Given the description of an element on the screen output the (x, y) to click on. 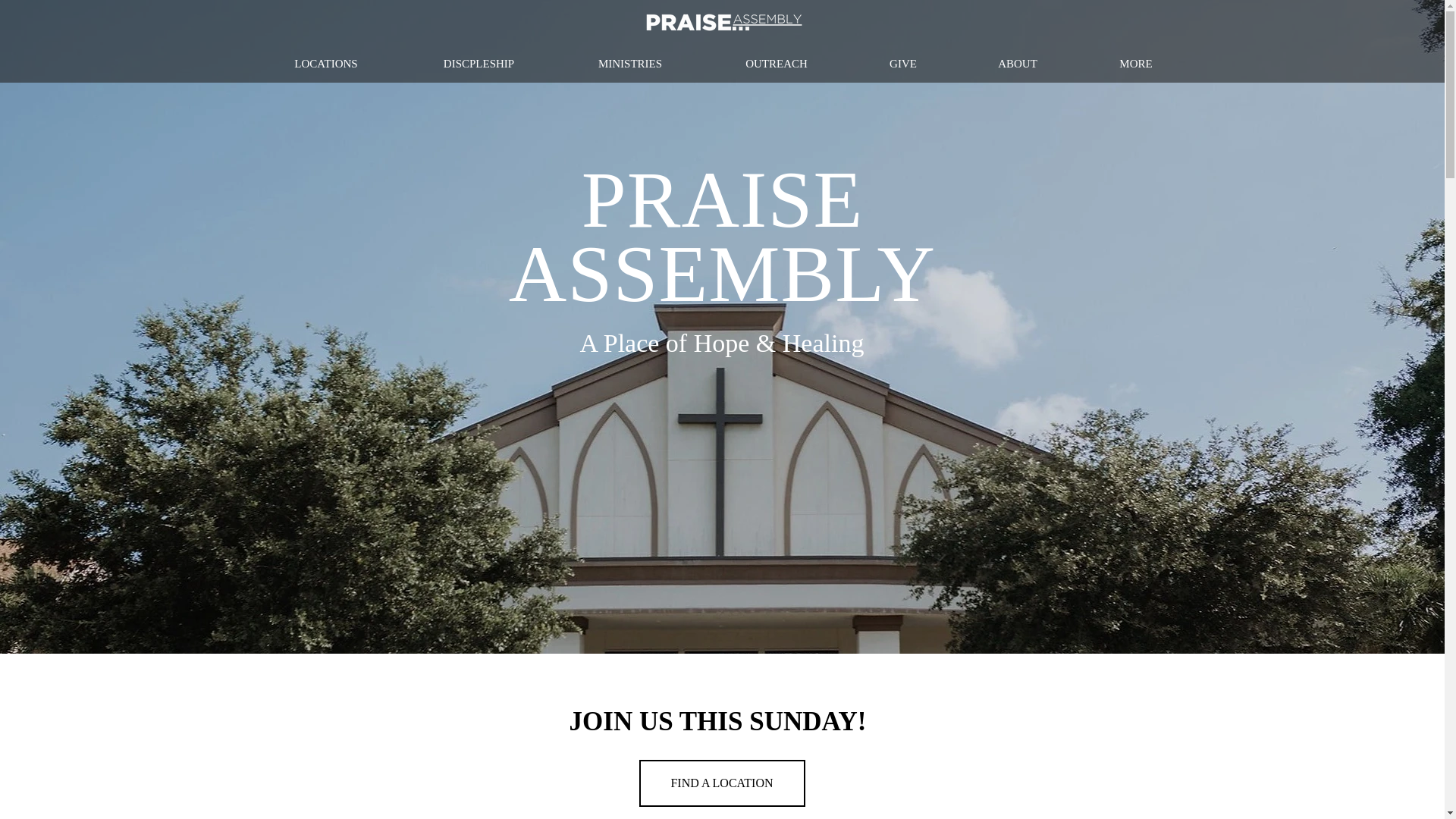
GIVE (902, 63)
DISCPLESHIP (478, 63)
Untitled design.png (722, 22)
FIND A LOCATION (722, 783)
ABOUT (1017, 63)
LOCATIONS (326, 63)
